Given the description of an element on the screen output the (x, y) to click on. 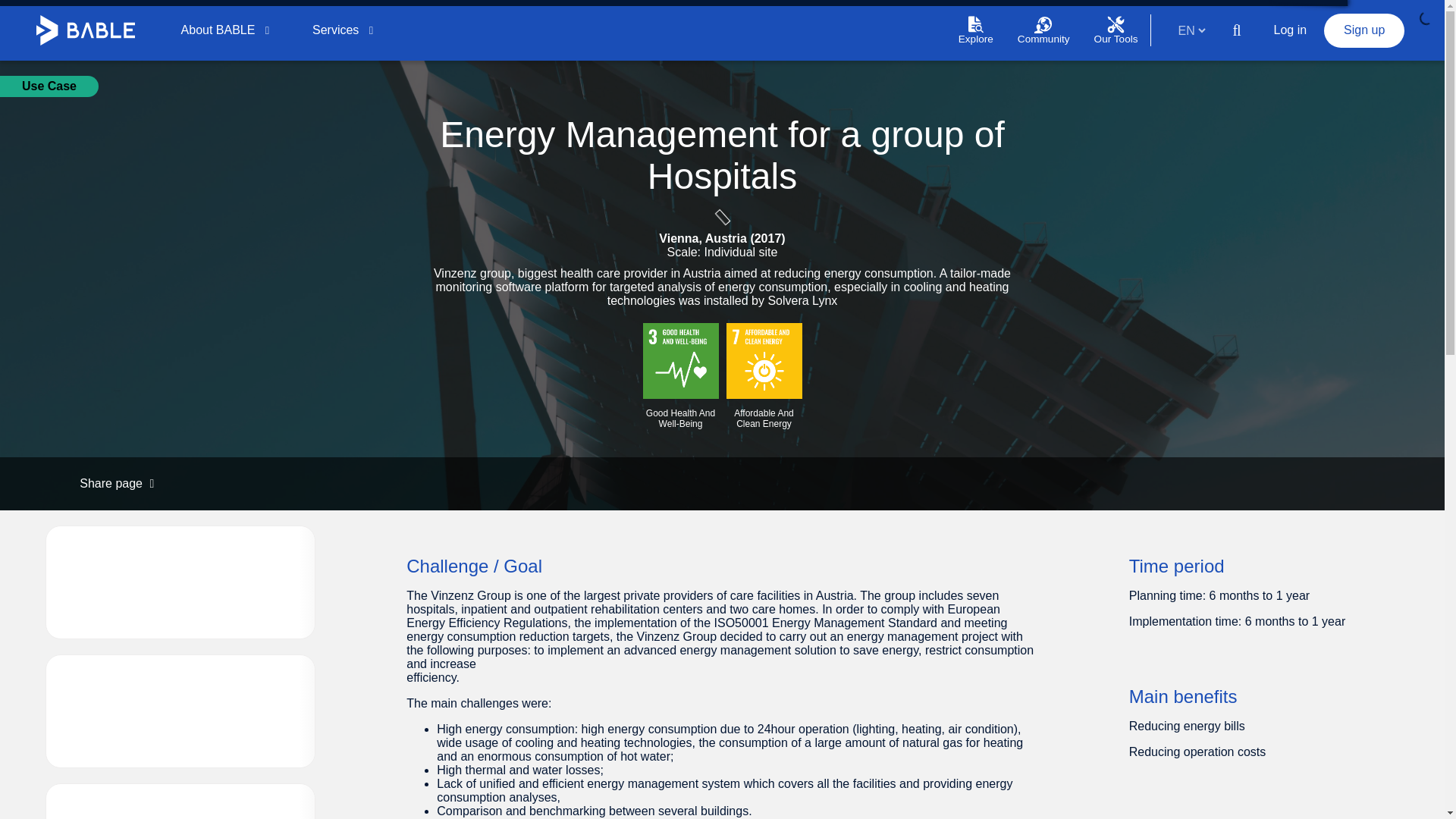
Log in (1290, 30)
Sign up (1364, 30)
